Given the description of an element on the screen output the (x, y) to click on. 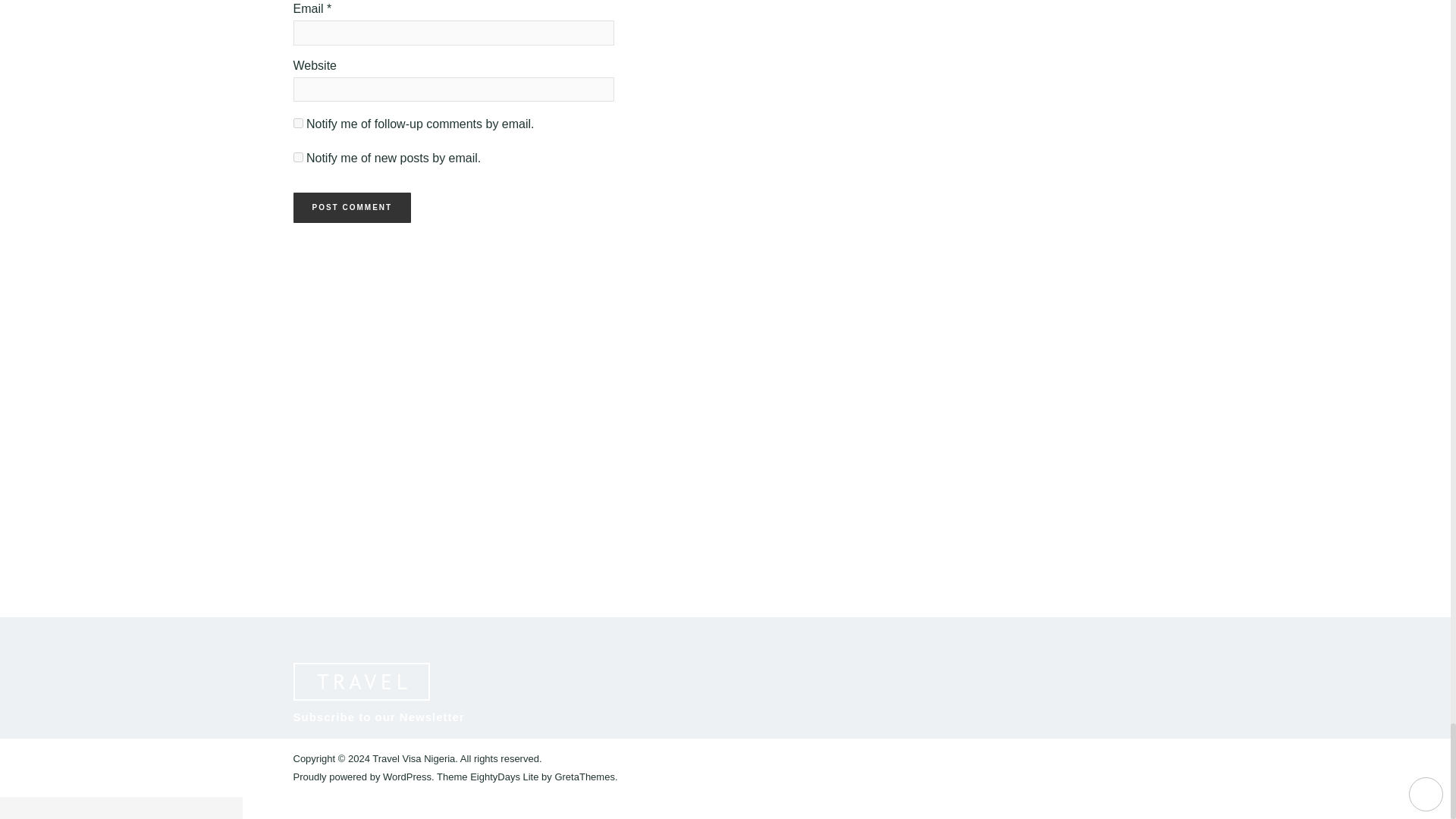
subscribe (297, 122)
WordPress (406, 776)
Post Comment (351, 207)
Travel Visa Nigeria (413, 758)
subscribe (297, 157)
Post Comment (351, 207)
